Given the description of an element on the screen output the (x, y) to click on. 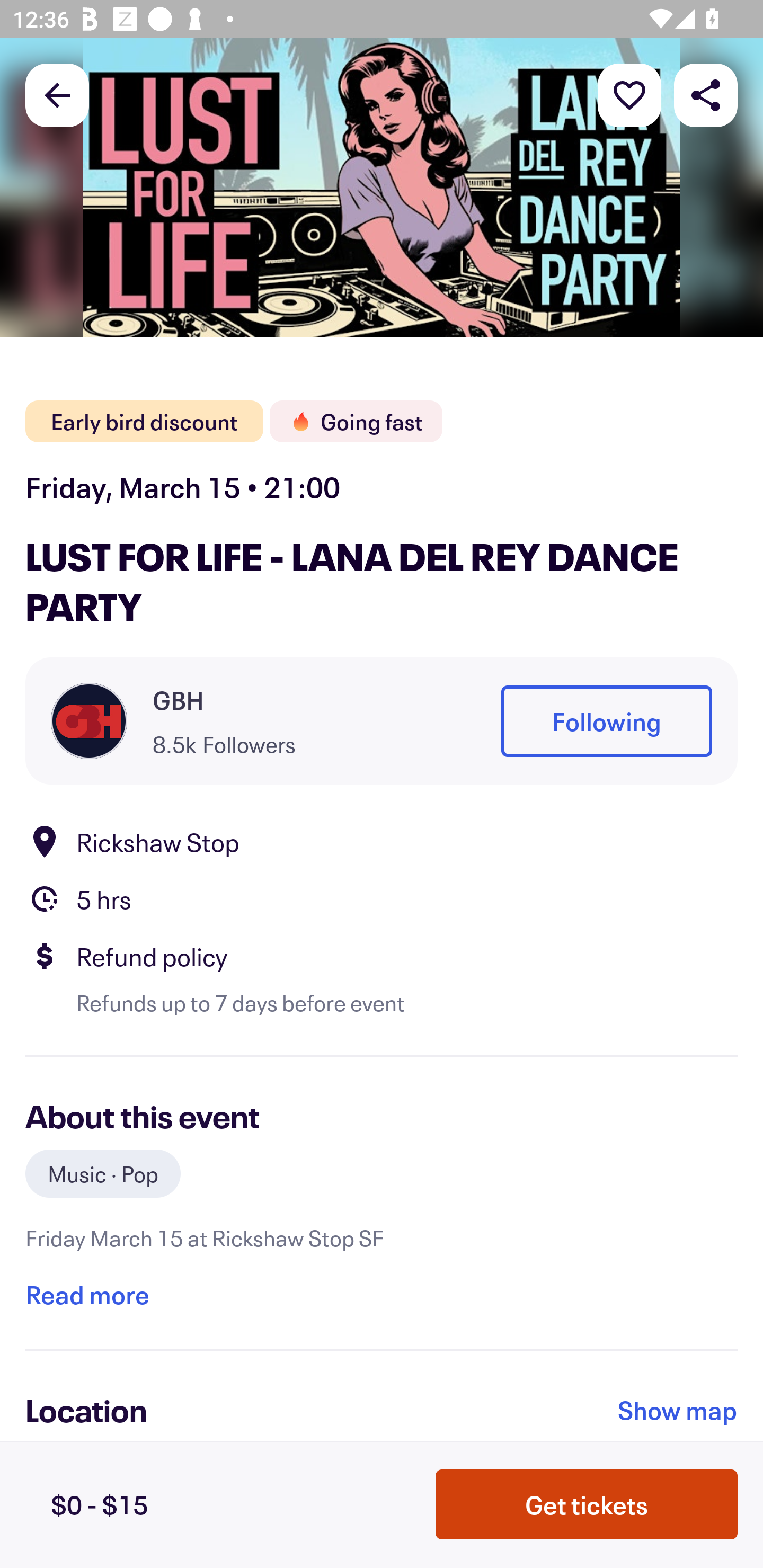
Back (57, 94)
More (629, 94)
Share (705, 94)
Early bird discount (144, 421)
GBH (178, 699)
Organizer profile picture (89, 720)
Following (606, 720)
Location Rickshaw Stop (381, 840)
Read more (87, 1293)
Show map (677, 1410)
Get tickets (586, 1503)
